Given the description of an element on the screen output the (x, y) to click on. 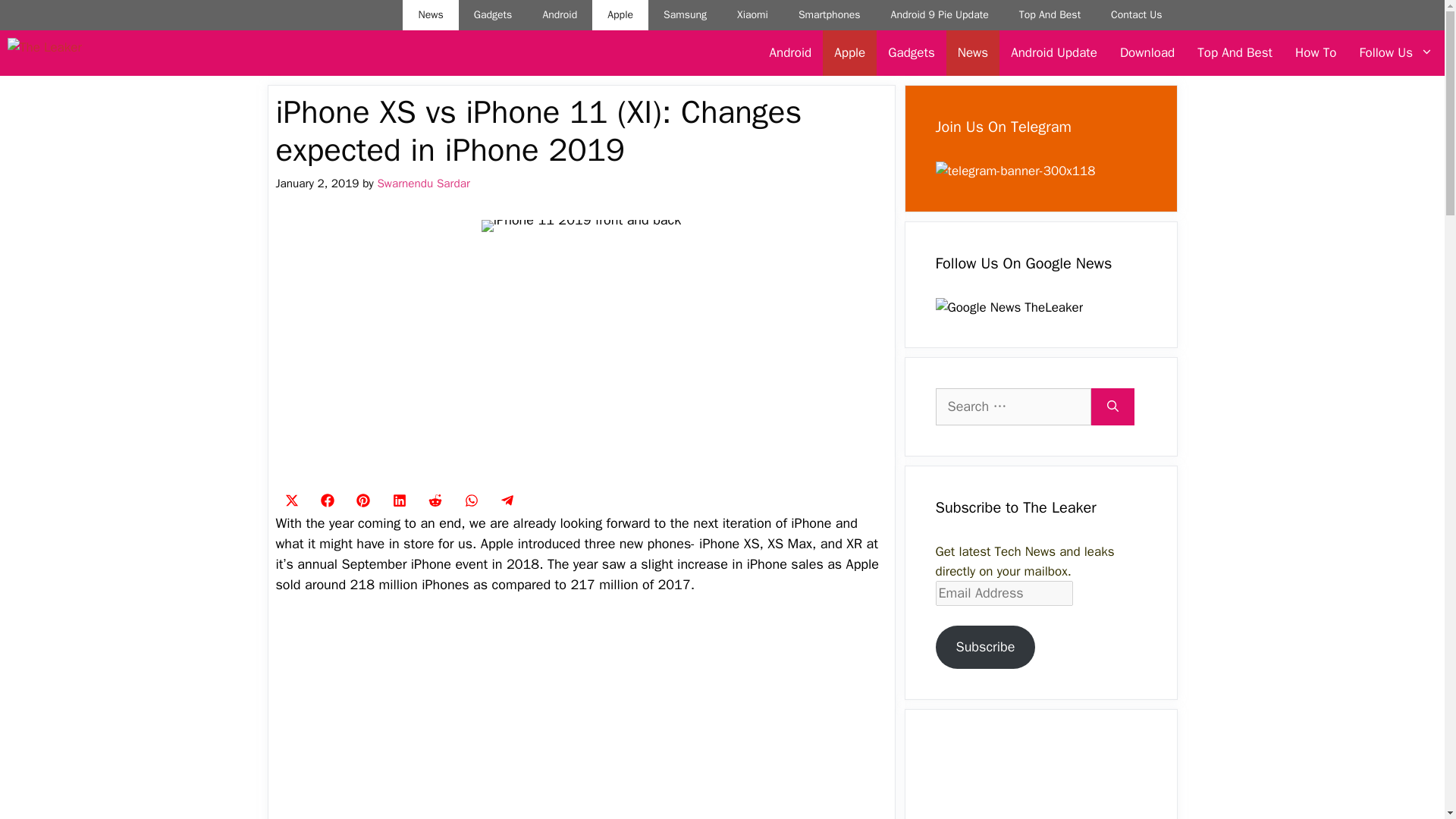
News (972, 53)
Search for: (1013, 406)
Download (1147, 53)
News (430, 15)
Top And Best (1235, 53)
View all posts by Swarnendu Sardar (422, 183)
Gadgets (492, 15)
Android 9 Pie Update (940, 15)
How To (1316, 53)
Xiaomi (752, 15)
Samsung (684, 15)
Android (791, 53)
Apple (619, 15)
Gadgets (910, 53)
Android Update (1053, 53)
